Given the description of an element on the screen output the (x, y) to click on. 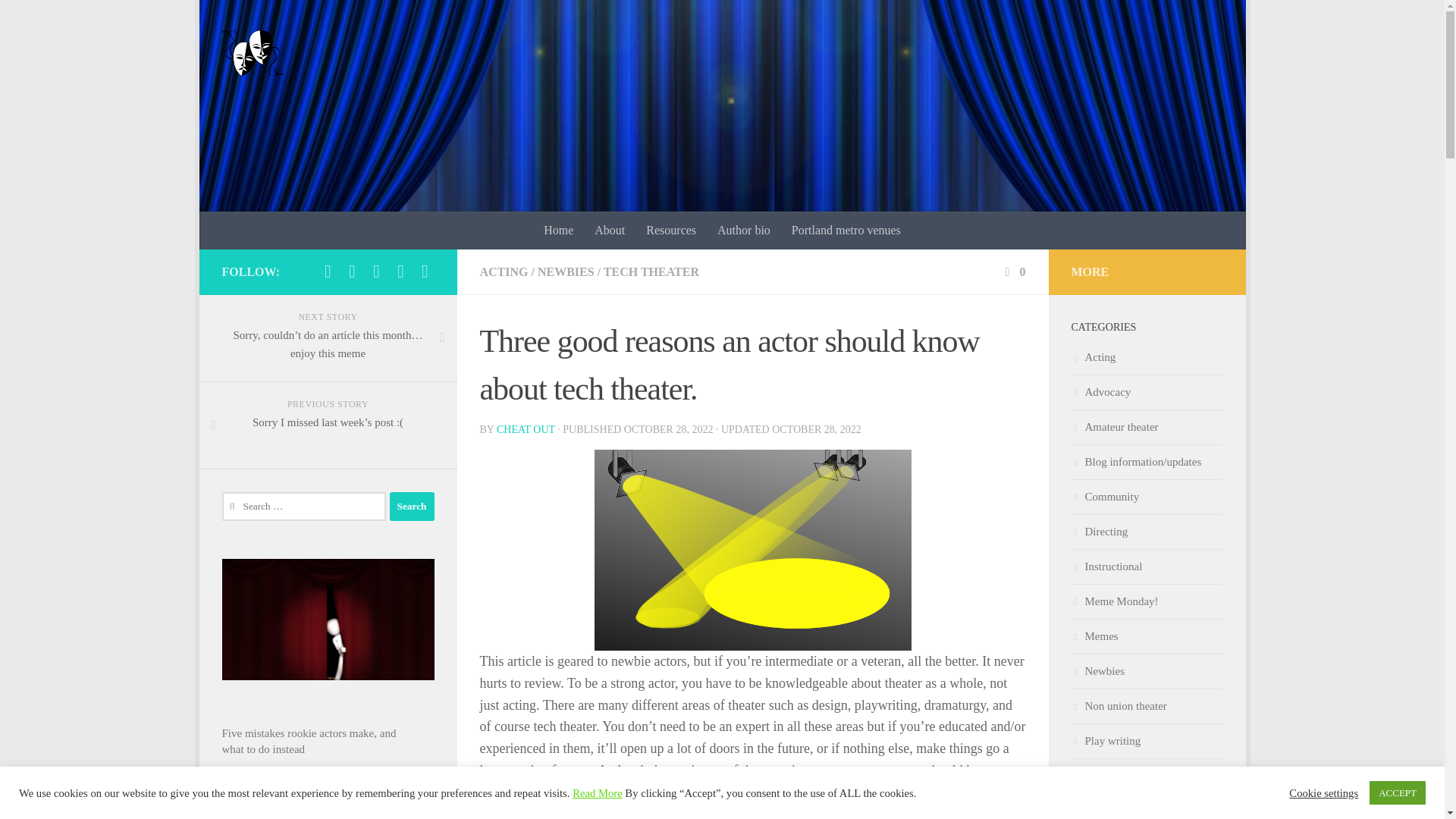
About (608, 230)
Posts by Cheat Out (525, 428)
Search (411, 506)
Skip to content (258, 20)
CHEAT OUT (525, 428)
Resources (670, 230)
Home (557, 230)
0 (1013, 271)
NEWBIES (565, 271)
Search (411, 506)
